Given the description of an element on the screen output the (x, y) to click on. 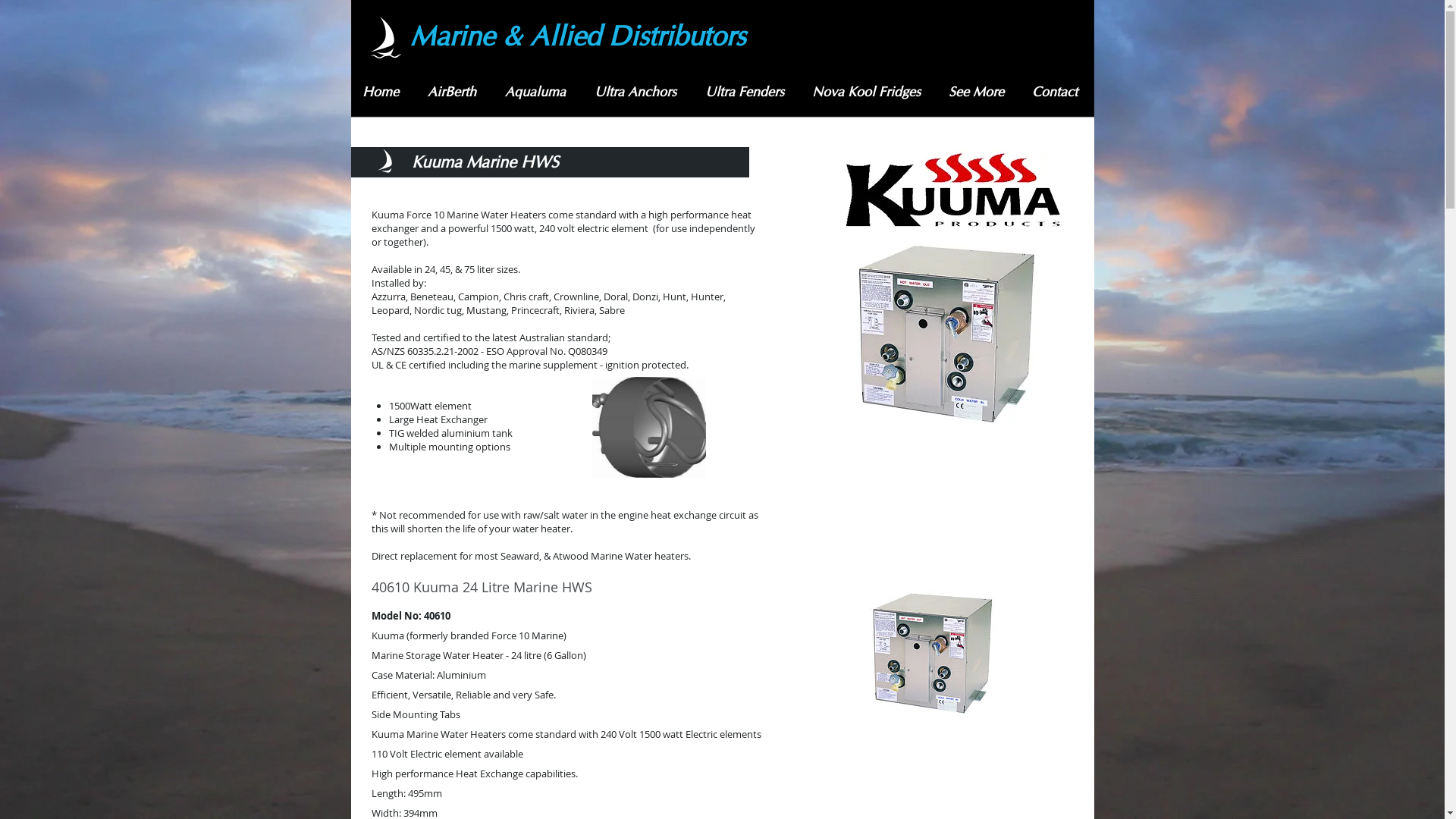
Nova Kool Fridges Element type: text (868, 91)
AirBerth Element type: text (453, 91)
Kumma 40610.jpg Element type: hover (932, 652)
Aqualuma Element type: text (537, 91)
See More Element type: text (978, 91)
Kumma 40610.jpg Element type: hover (945, 334)
Ultra Fenders Element type: text (746, 91)
Home Element type: text (382, 91)
kuuma-logo---color.jpg Element type: hover (950, 188)
Ultra Anchors Element type: text (637, 91)
Internal view Kumma HWS.gif Element type: hover (648, 426)
